Given the description of an element on the screen output the (x, y) to click on. 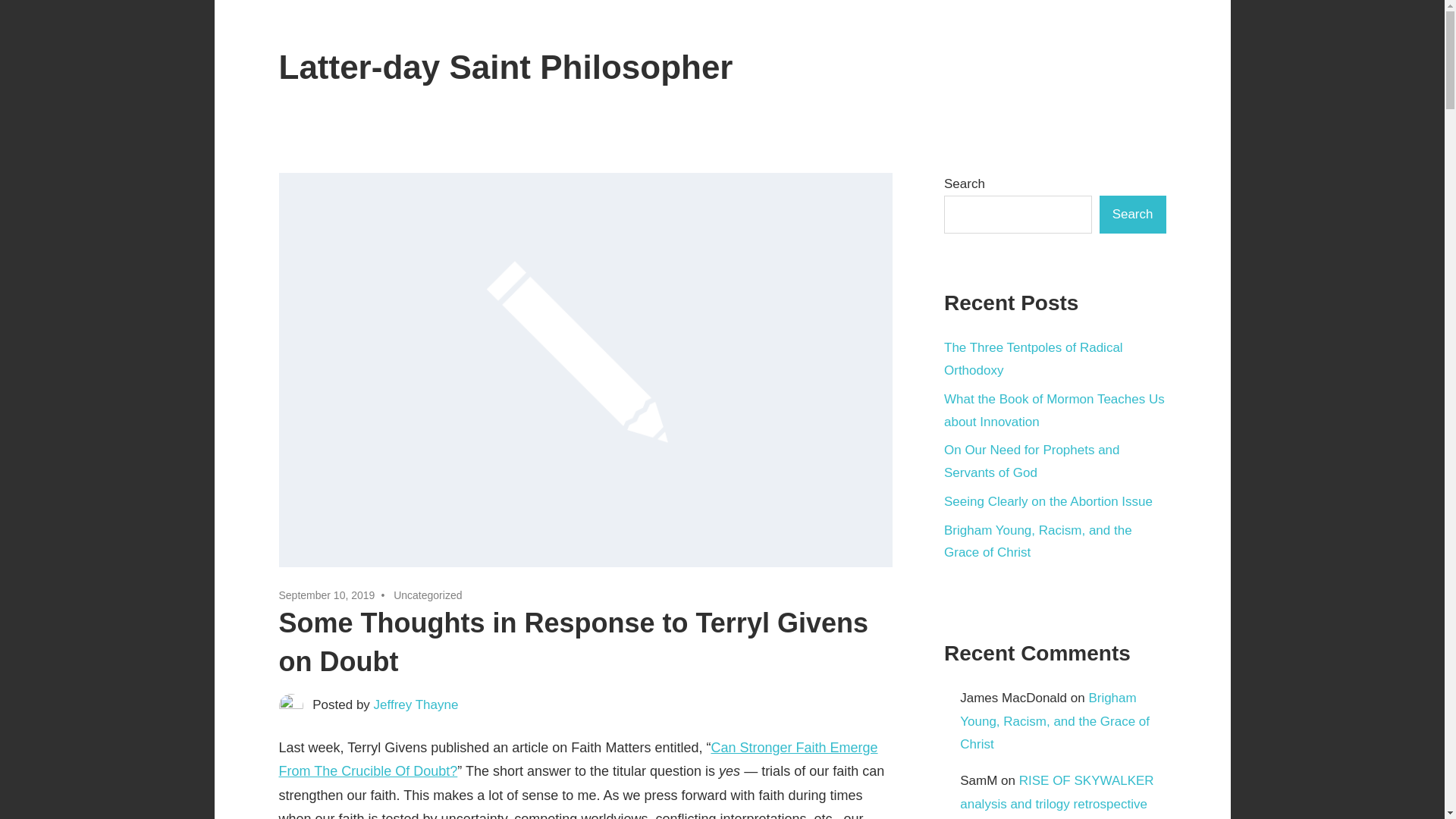
Brigham Young, Racism, and the Grace of Christ (1054, 721)
Jeffrey Thayne (416, 704)
Seeing Clearly on the Abortion Issue (1048, 501)
8:00 am (327, 594)
Can Stronger Faith Emerge From The Crucible Of Doubt? (578, 759)
The Three Tentpoles of Radical Orthodoxy (1032, 358)
Search (1132, 214)
View all posts by Jeffrey Thayne (416, 704)
Latter-day Saint Philosopher (506, 66)
Uncategorized (427, 594)
RISE OF SKYWALKER analysis and trilogy retrospective (1056, 792)
On Our Need for Prophets and Servants of God (1031, 461)
Brigham Young, Racism, and the Grace of Christ (1037, 541)
September 10, 2019 (327, 594)
What the Book of Mormon Teaches Us about Innovation (1053, 410)
